Given the description of an element on the screen output the (x, y) to click on. 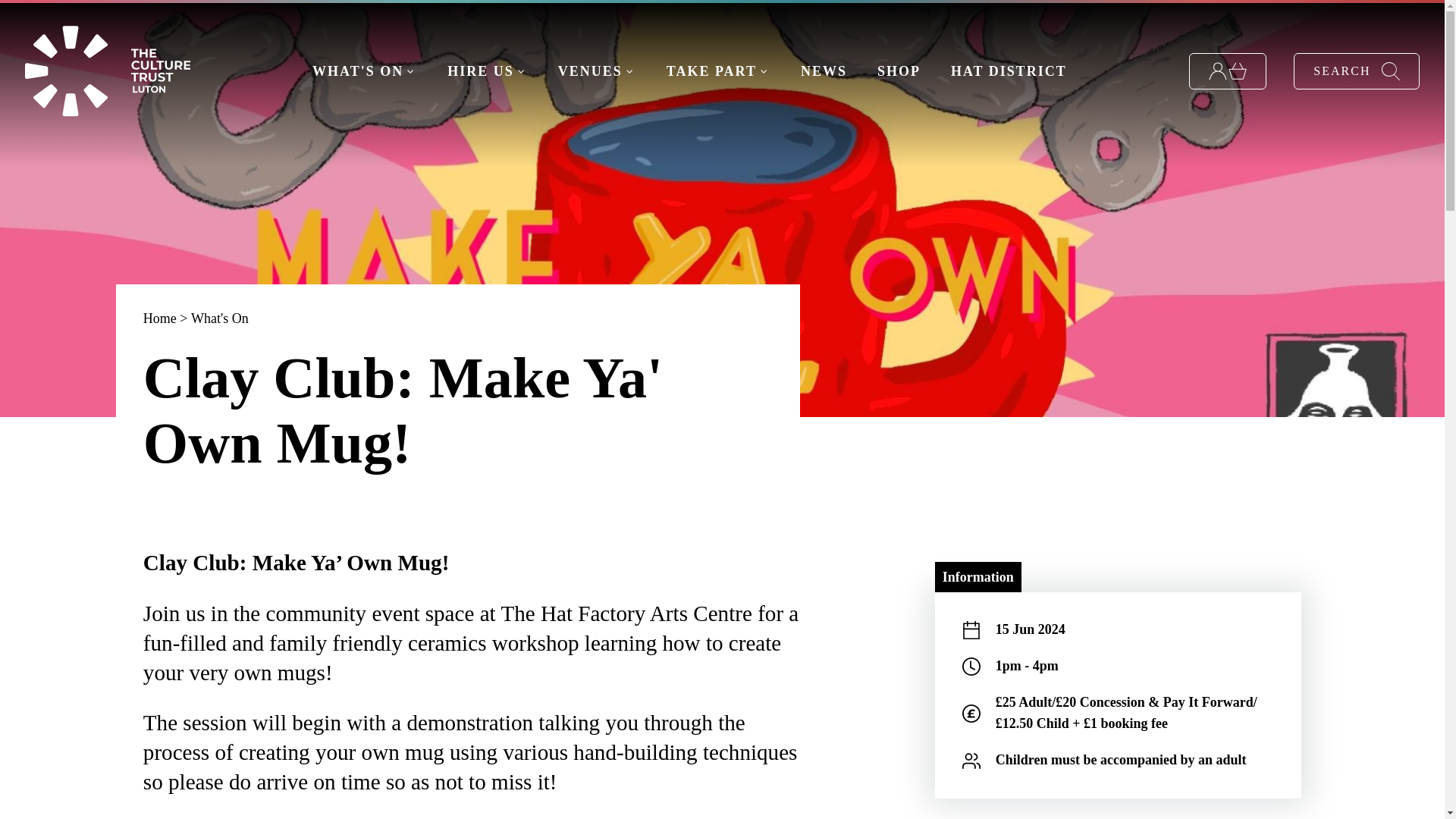
SHOP (898, 70)
VENUES (596, 70)
WHAT'S ON (364, 70)
NEWS (823, 70)
THE CULTURE TRUST LUTON (106, 71)
HIRE US (486, 70)
Search (1356, 71)
Shop (1227, 71)
TAKE PART (718, 70)
The Culture Trust Shop (898, 70)
HAT DISTRICT (1008, 70)
